Given the description of an element on the screen output the (x, y) to click on. 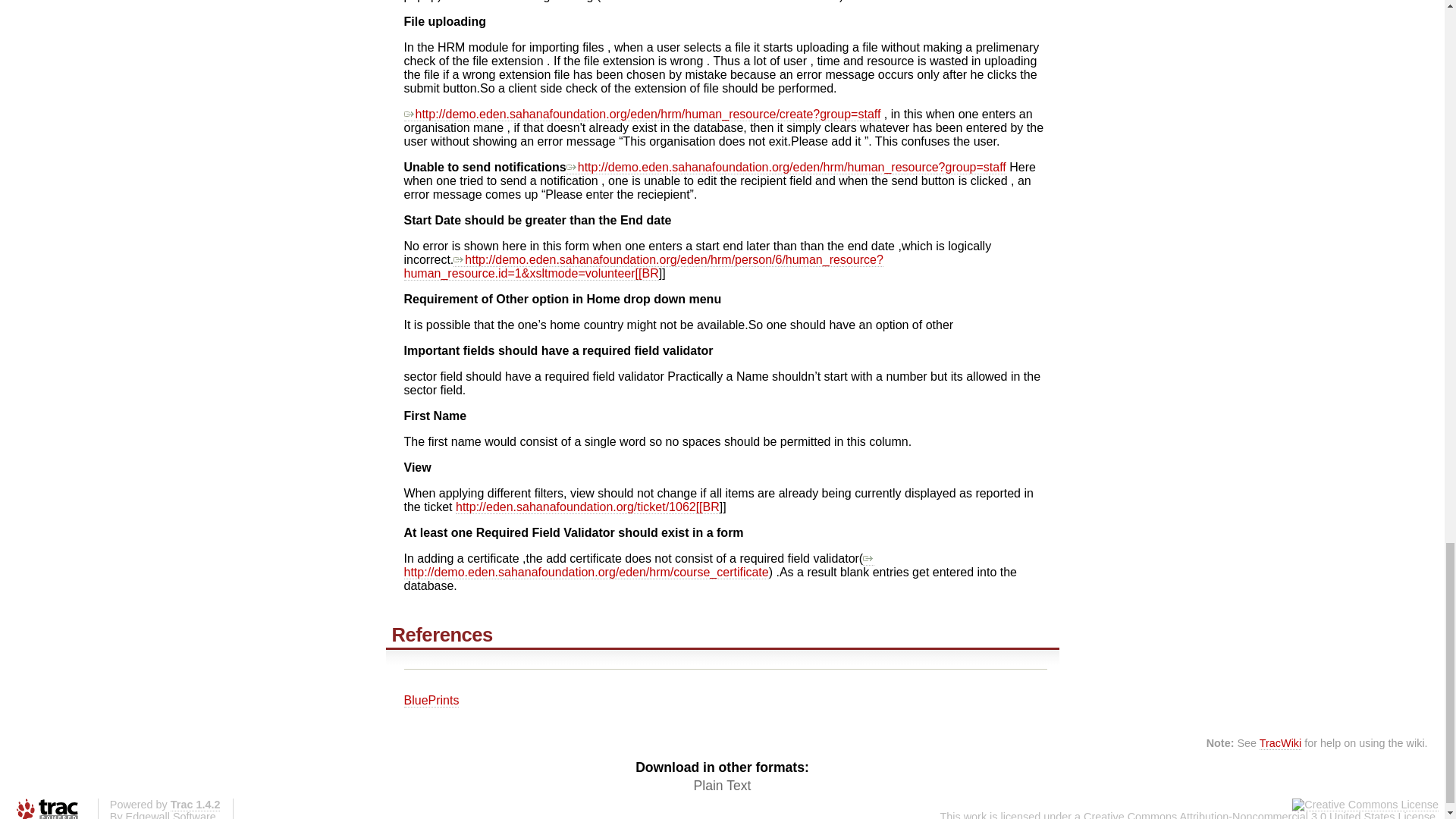
BluePrints (430, 700)
